Given the description of an element on the screen output the (x, y) to click on. 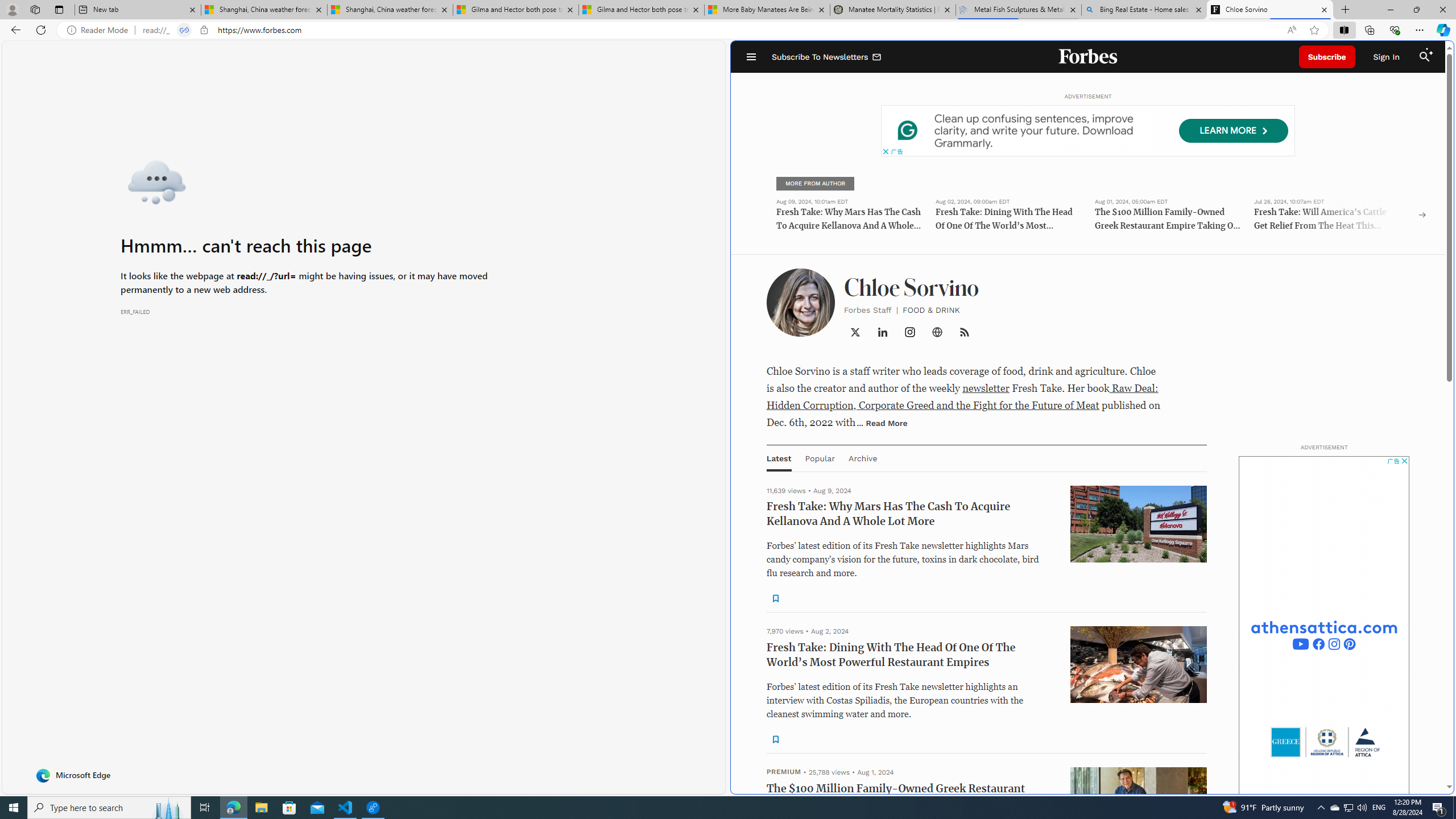
Popular (819, 457)
Open Navigation Menu (750, 56)
Tabs in split screen (184, 29)
Chloe Sorvino (1270, 9)
Class: envelope_svg__fs-icon envelope_svg__fs-icon--envelope (877, 57)
Class: _4mQLn (937, 331)
Archive (862, 457)
Manatee Mortality Statistics | FWC (892, 9)
